Given the description of an element on the screen output the (x, y) to click on. 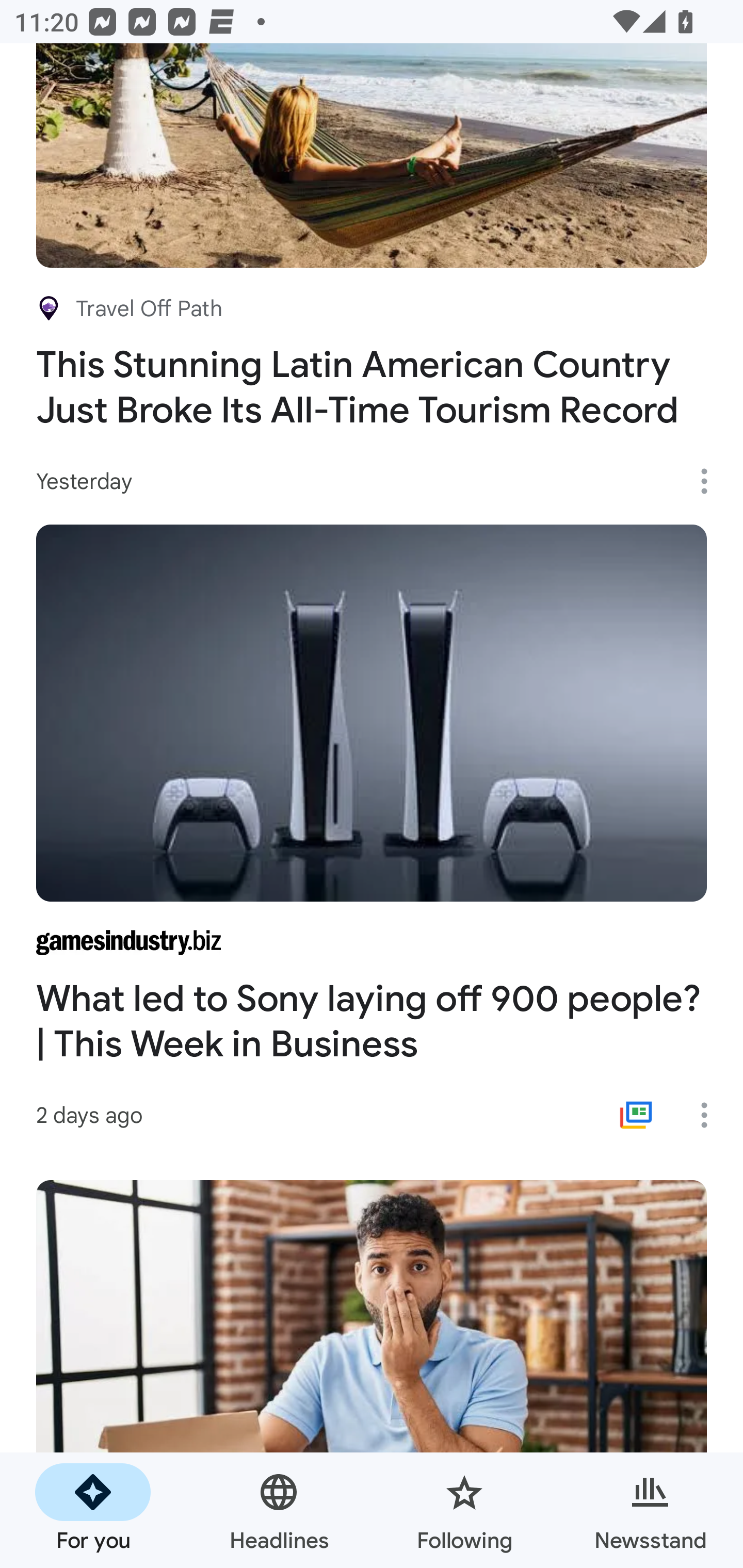
More options (711, 481)
More options (711, 1114)
For you (92, 1509)
Headlines (278, 1509)
Following (464, 1509)
Newsstand (650, 1509)
